Given the description of an element on the screen output the (x, y) to click on. 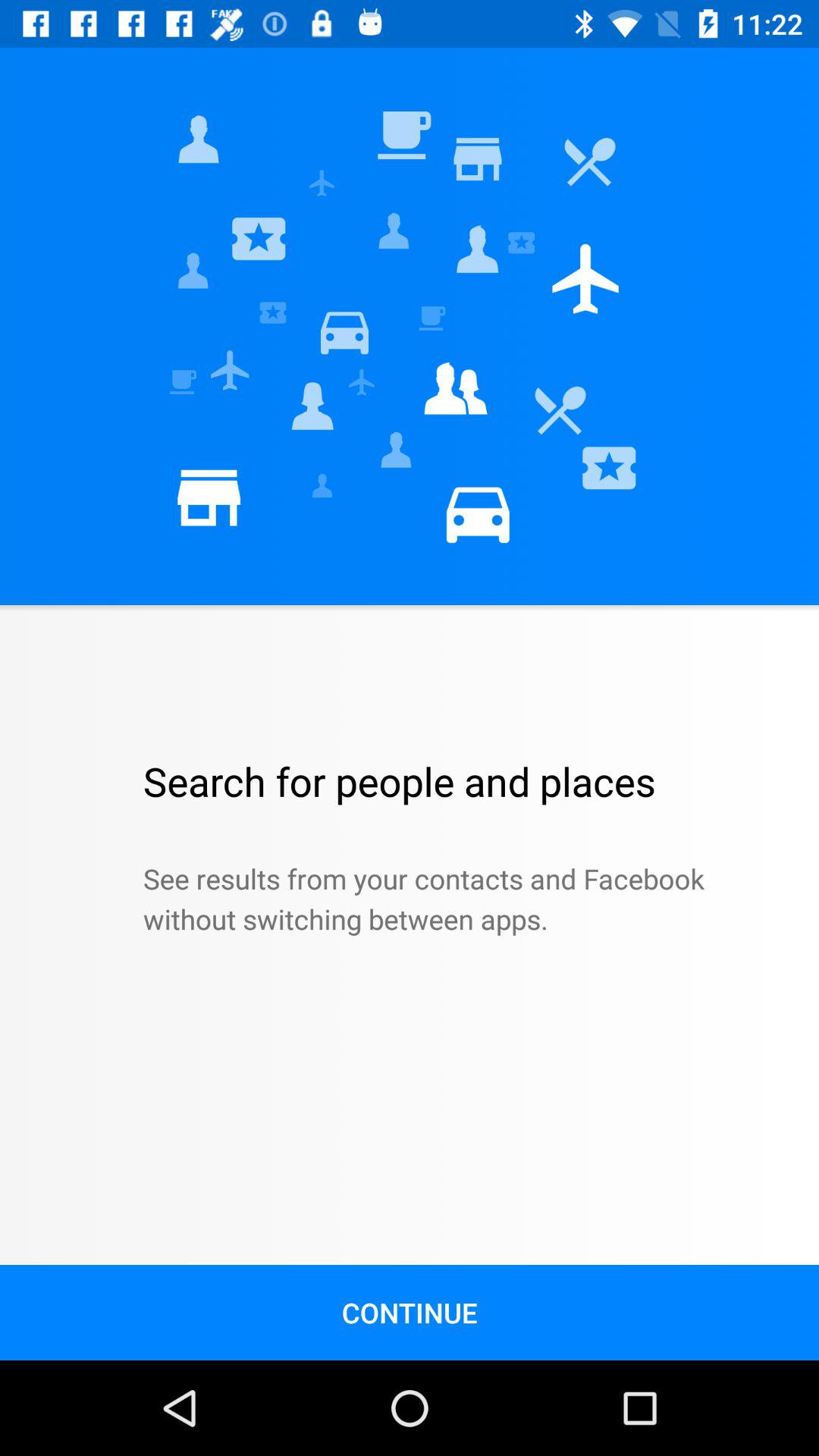
flip until the continue icon (409, 1312)
